Given the description of an element on the screen output the (x, y) to click on. 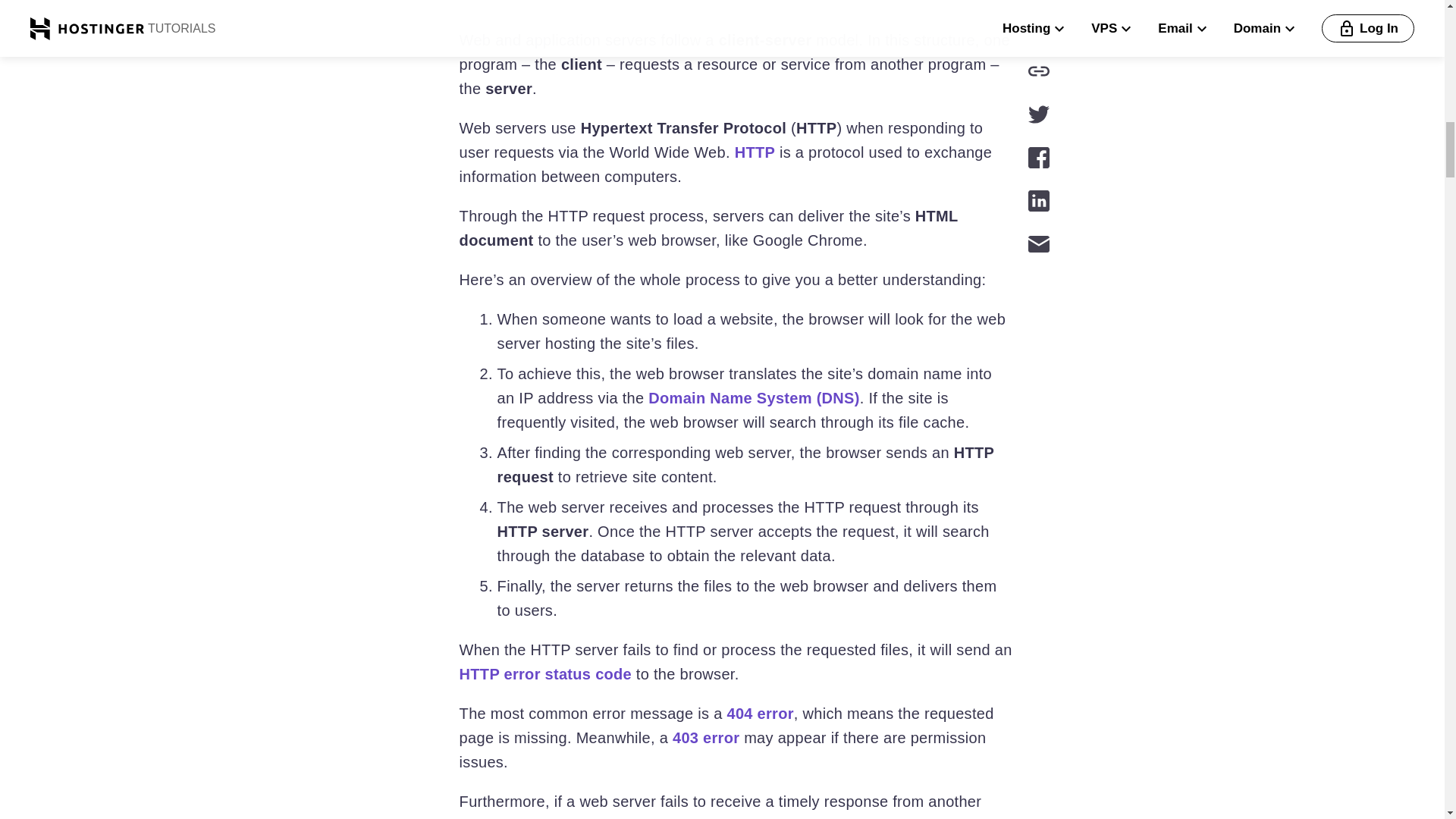
HTTP error status code (545, 673)
HTTP (754, 152)
404 error (759, 713)
403 error (705, 737)
504 error (759, 818)
